Given the description of an element on the screen output the (x, y) to click on. 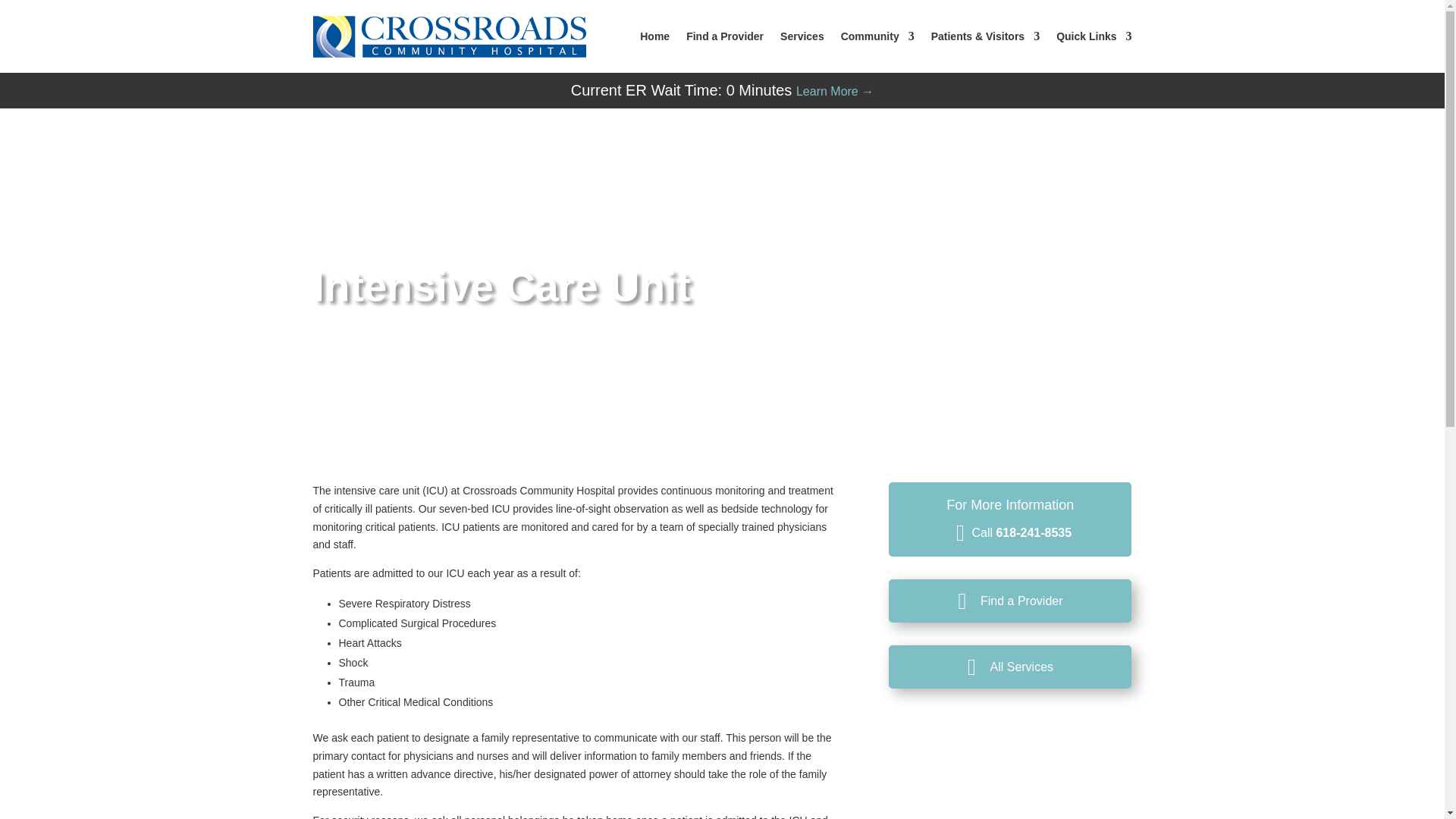
Find a Provider (723, 36)
Services (802, 36)
0 (730, 89)
Quick Links (1094, 36)
Community (877, 36)
Home (654, 36)
